Given the description of an element on the screen output the (x, y) to click on. 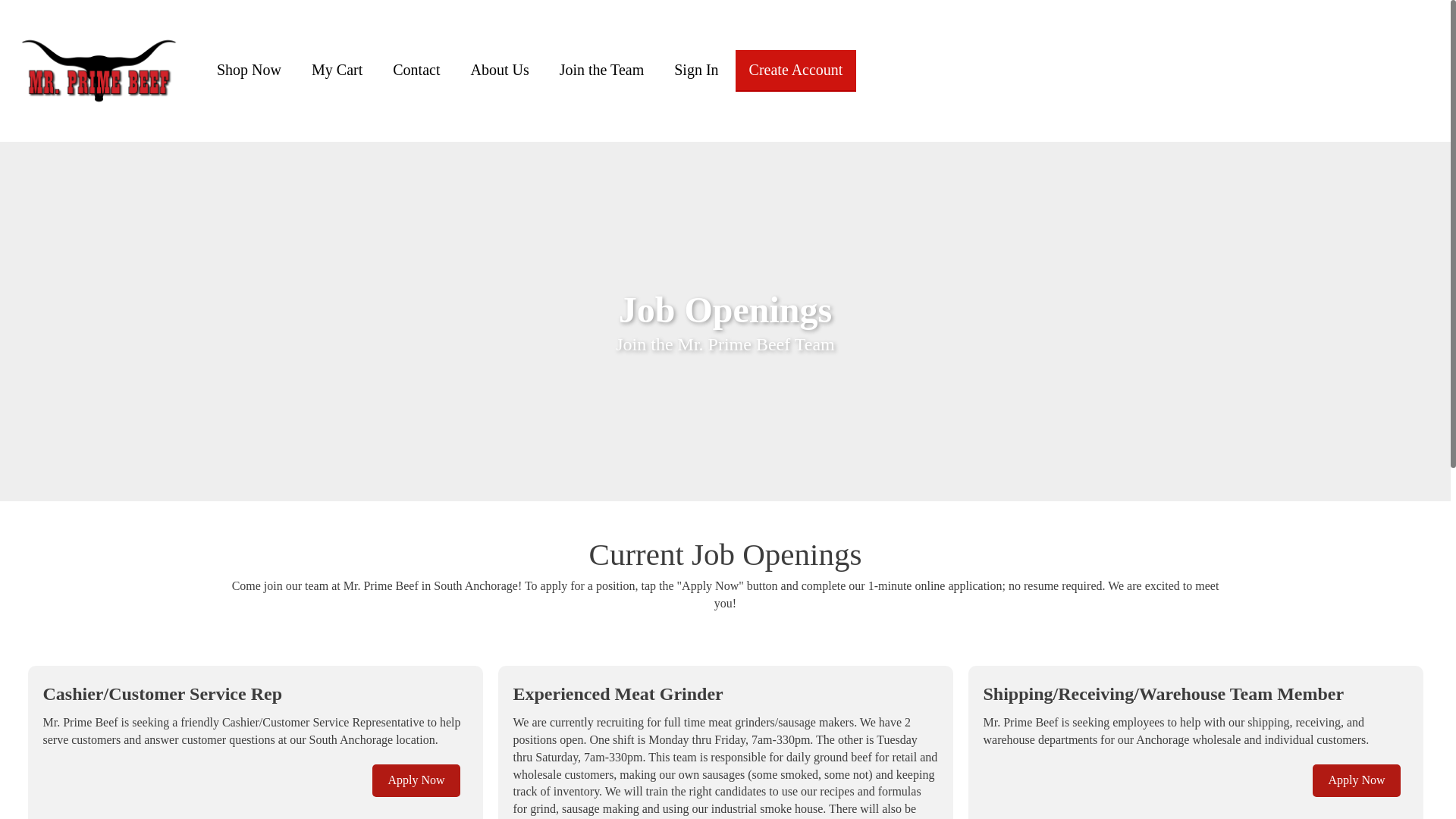
Sign In (696, 70)
Apply Now (1356, 780)
Contact (415, 70)
About Us (499, 70)
Apply Now (416, 780)
Create Account (796, 70)
Join the Team (602, 70)
My Cart (336, 70)
Shop Now (249, 70)
